Given the description of an element on the screen output the (x, y) to click on. 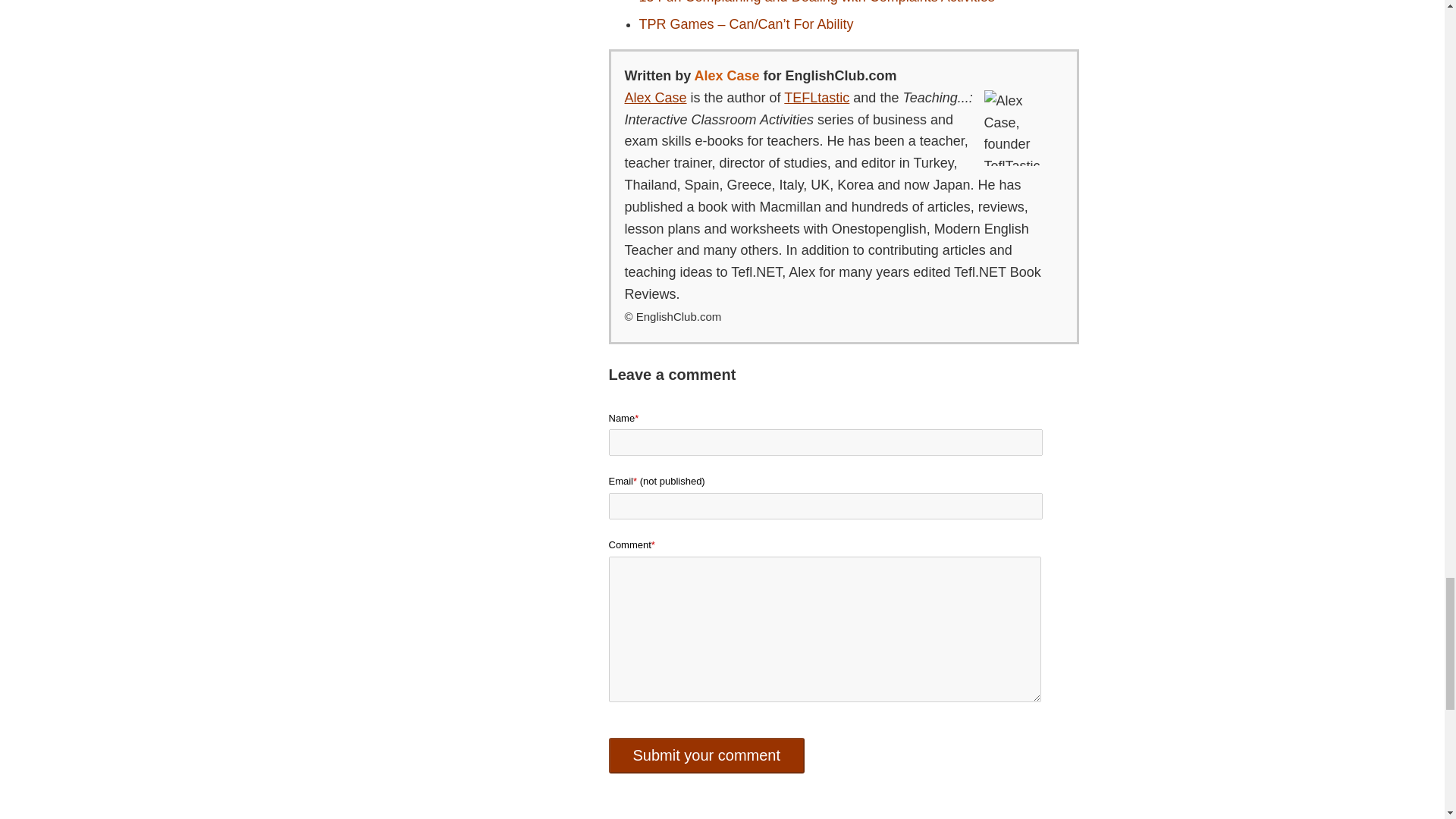
Alex Case (655, 97)
